Given the description of an element on the screen output the (x, y) to click on. 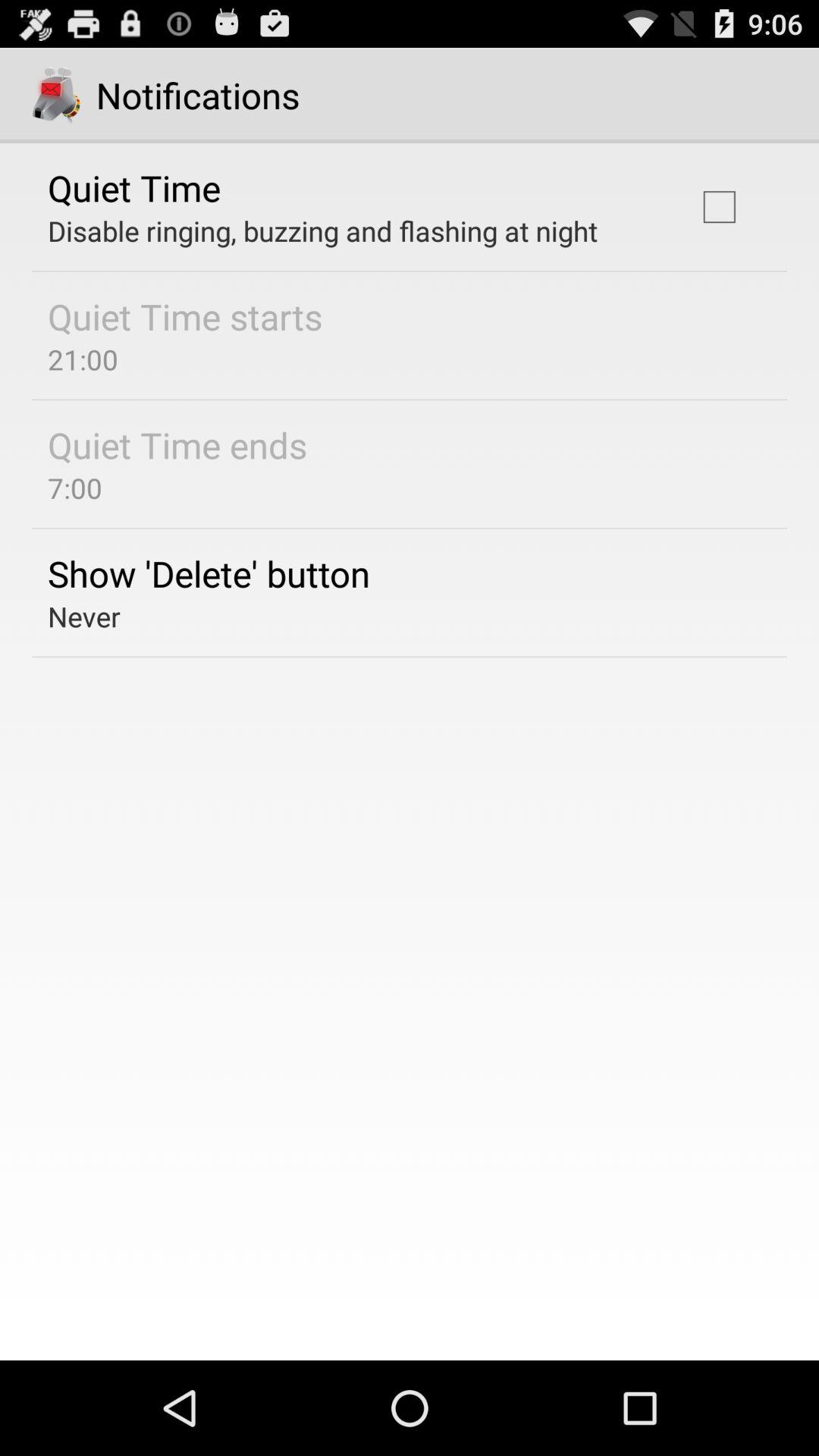
flip to the show 'delete' button app (208, 573)
